Given the description of an element on the screen output the (x, y) to click on. 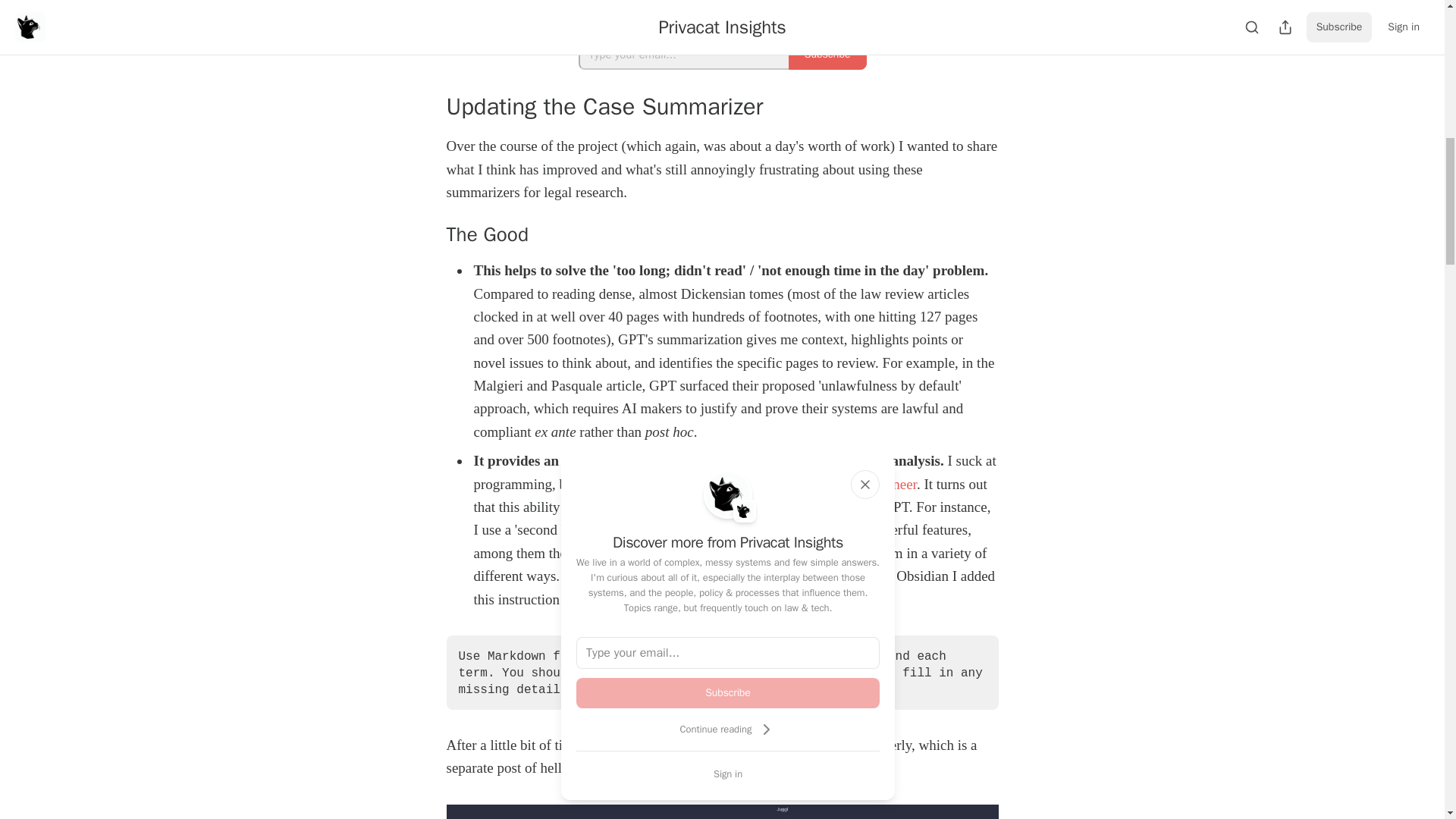
Sign in (727, 773)
Obsidian (707, 529)
Subscribe (827, 54)
Subscribe (727, 693)
passably good at thinking a bit like an engineer (781, 483)
